Given the description of an element on the screen output the (x, y) to click on. 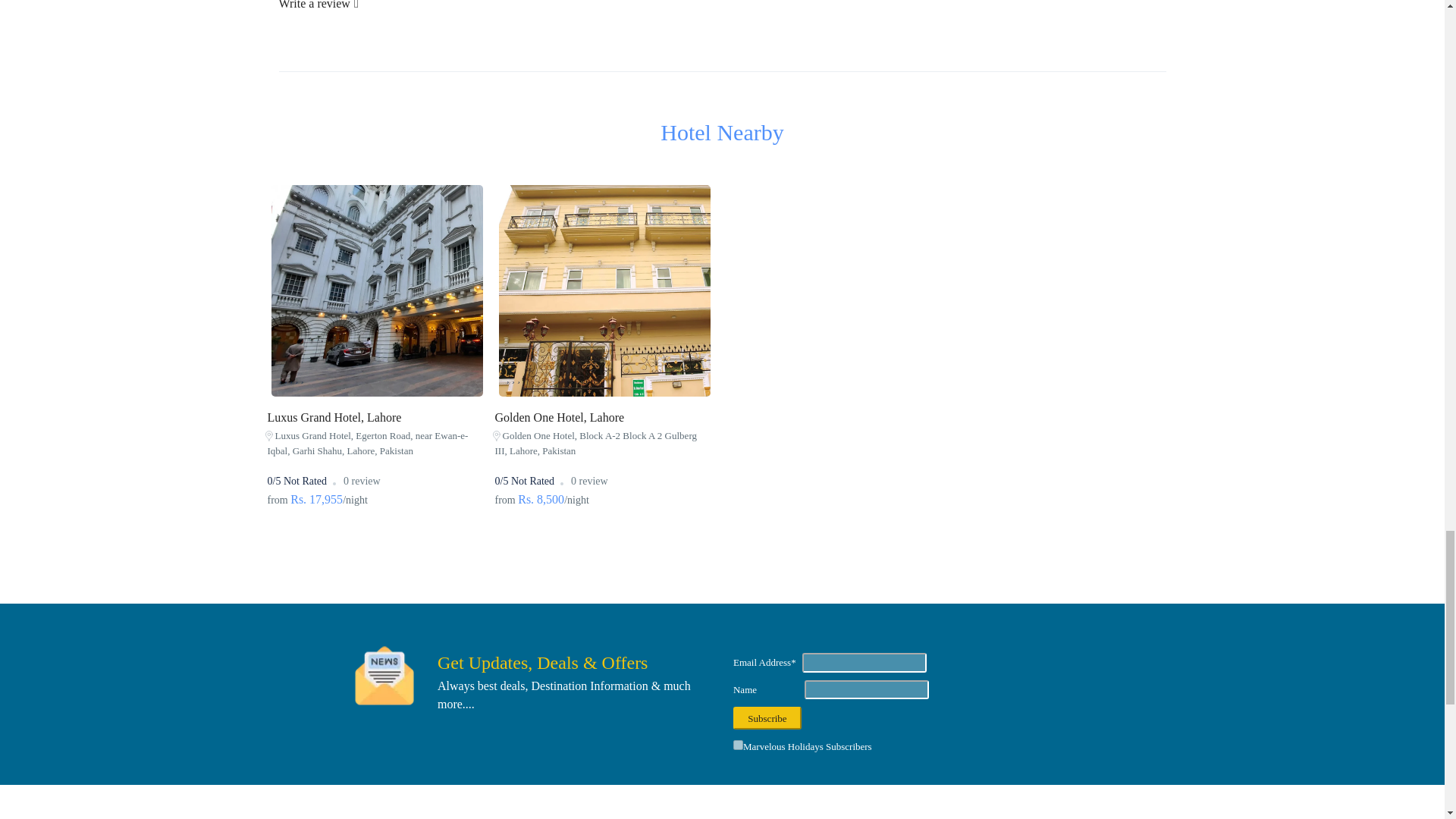
5 (737, 745)
Subscribe (767, 717)
